Given the description of an element on the screen output the (x, y) to click on. 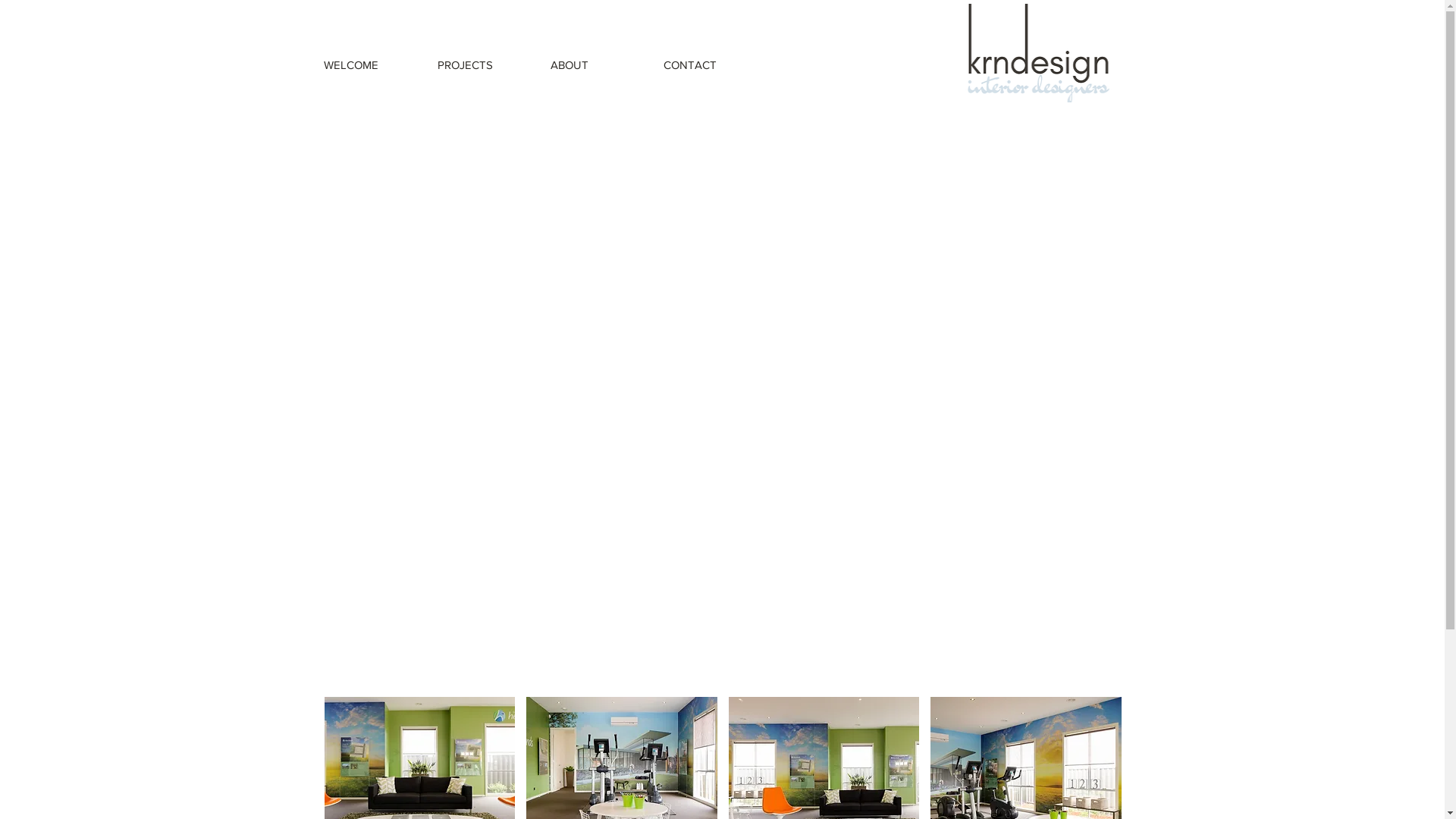
CONTACT Element type: text (708, 64)
Logo for Stationary - plain.jpg Element type: hover (1039, 52)
PROJECTS Element type: text (482, 64)
WELCOME Element type: text (369, 64)
ABOUT Element type: text (594, 64)
